Given the description of an element on the screen output the (x, y) to click on. 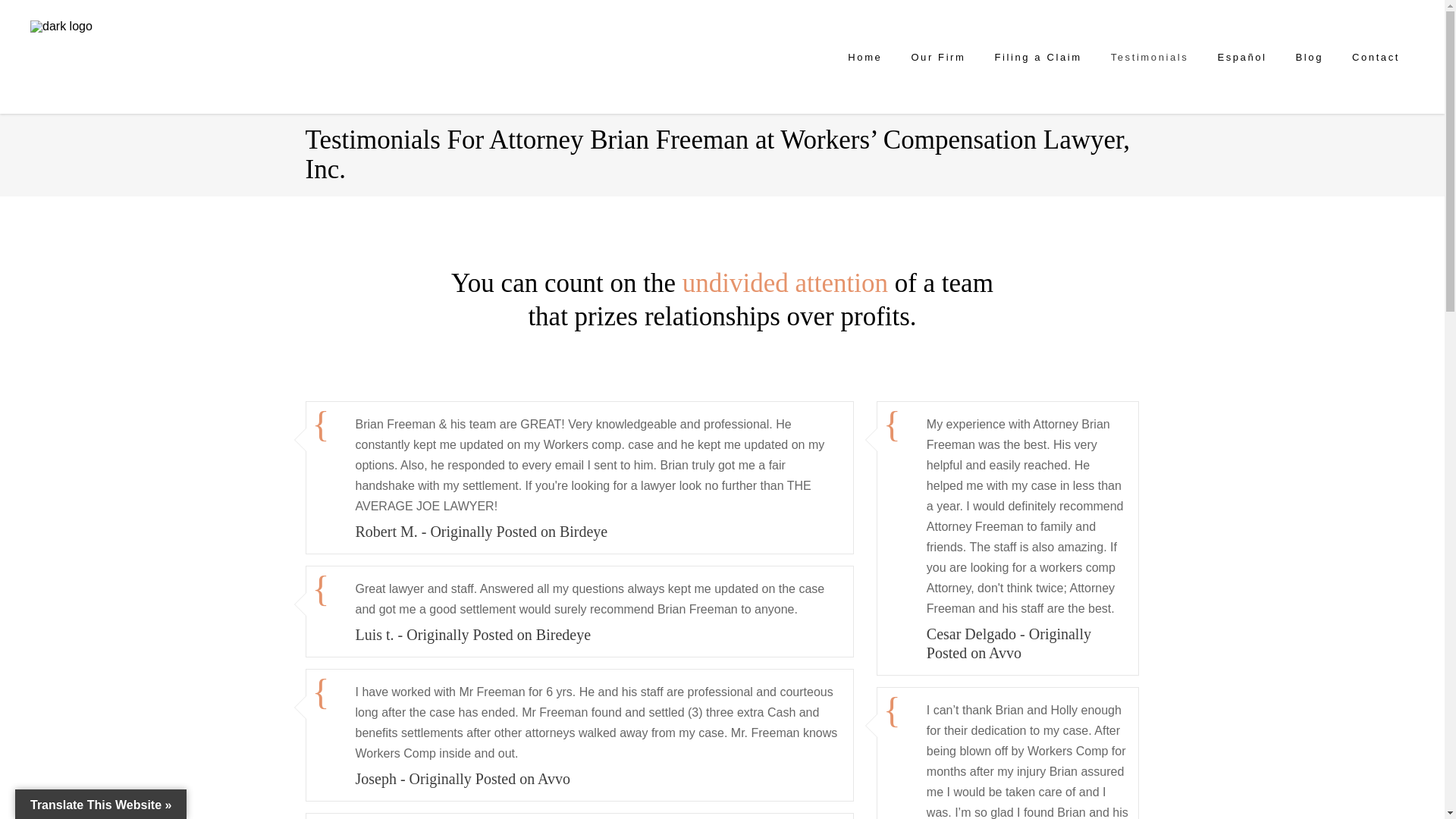
Testimonials (1150, 57)
Home (864, 57)
Our Firm (937, 57)
Filing a Claim (1037, 57)
Contact (1375, 57)
Blog (1309, 57)
